Given the description of an element on the screen output the (x, y) to click on. 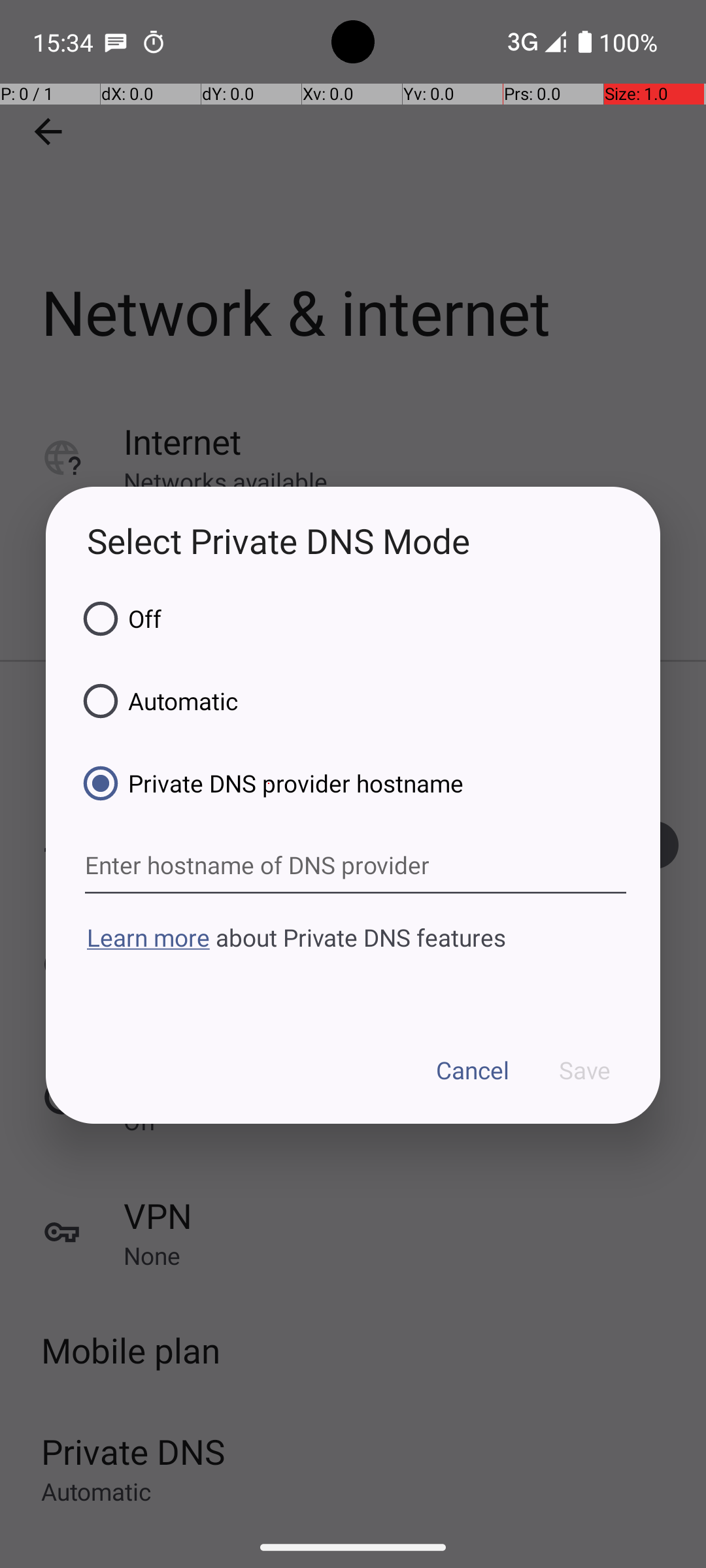
Select Private DNS Mode Element type: android.widget.TextView (352, 540)
Learn more about Private DNS features Element type: android.widget.TextView (352, 961)
Private DNS provider hostname Element type: android.widget.RadioButton (268, 783)
Enter hostname of DNS provider Element type: android.widget.EditText (355, 865)
